Given the description of an element on the screen output the (x, y) to click on. 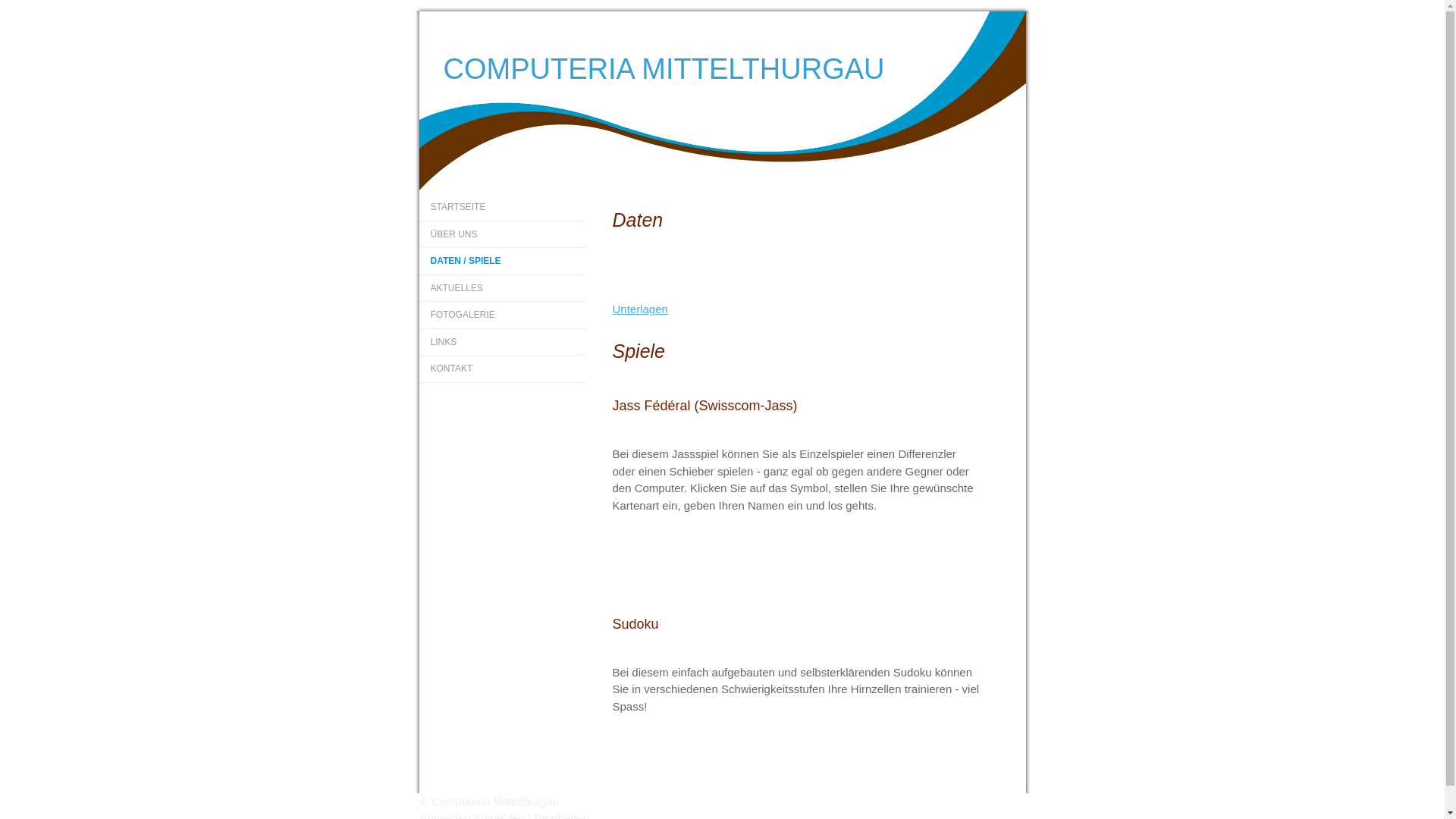
DATEN / SPIELE Element type: text (501, 261)
FOTOGALERIE Element type: text (501, 315)
KONTAKT Element type: text (501, 368)
AKTUELLES Element type: text (501, 287)
STARTSEITE Element type: text (501, 207)
LINKS Element type: text (501, 342)
Unterlagen Element type: text (640, 308)
